Given the description of an element on the screen output the (x, y) to click on. 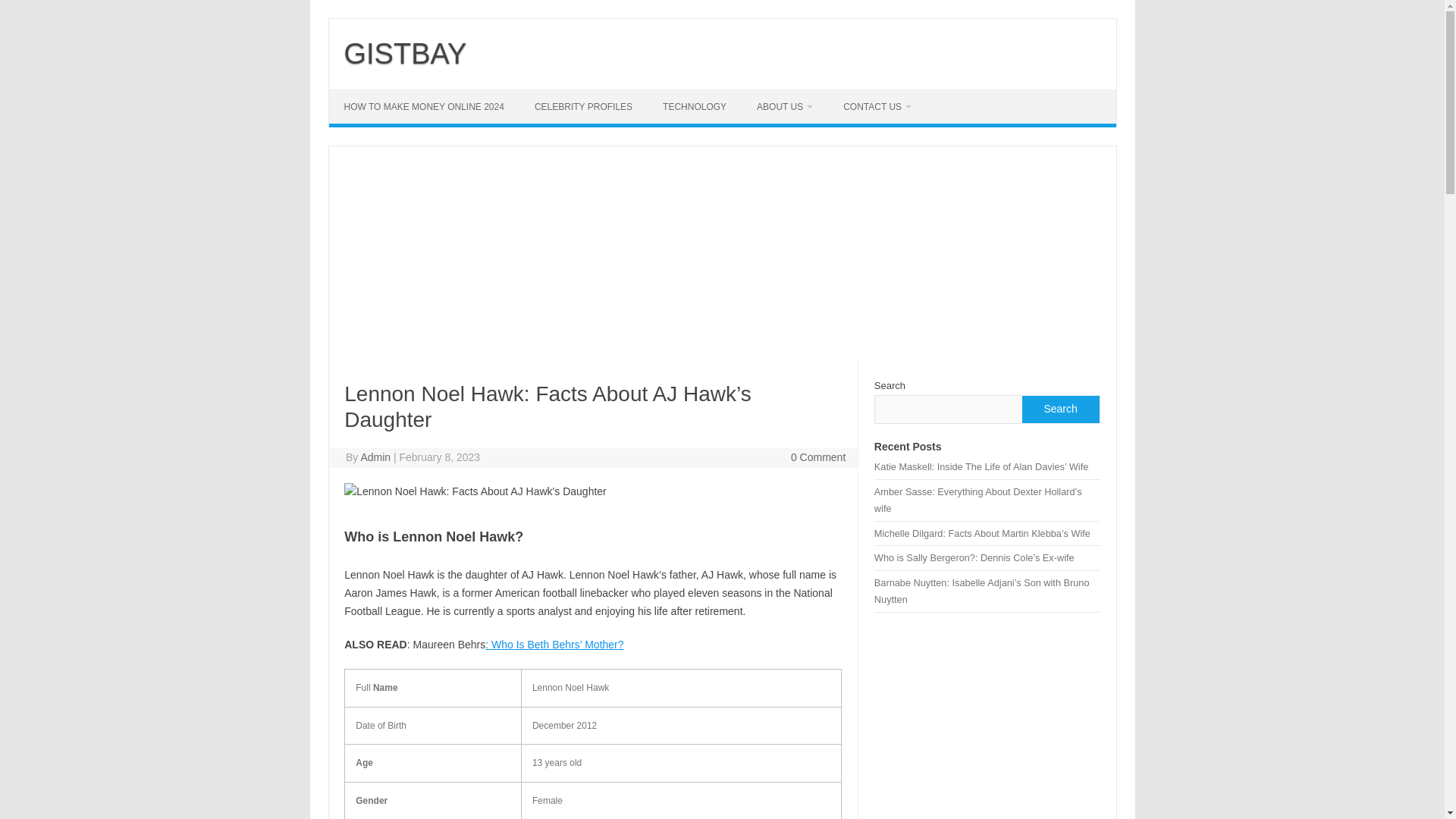
CONTACT US (877, 106)
Search (1059, 409)
0 Comment (817, 457)
GISTBAY (405, 53)
TECHNOLOGY (694, 106)
ABOUT US (784, 106)
GISTBAY (405, 53)
HOW TO MAKE MONEY ONLINE 2024 (424, 106)
CELEBRITY PROFILES (583, 106)
Admin (374, 457)
Posts by Admin (374, 457)
